Given the description of an element on the screen output the (x, y) to click on. 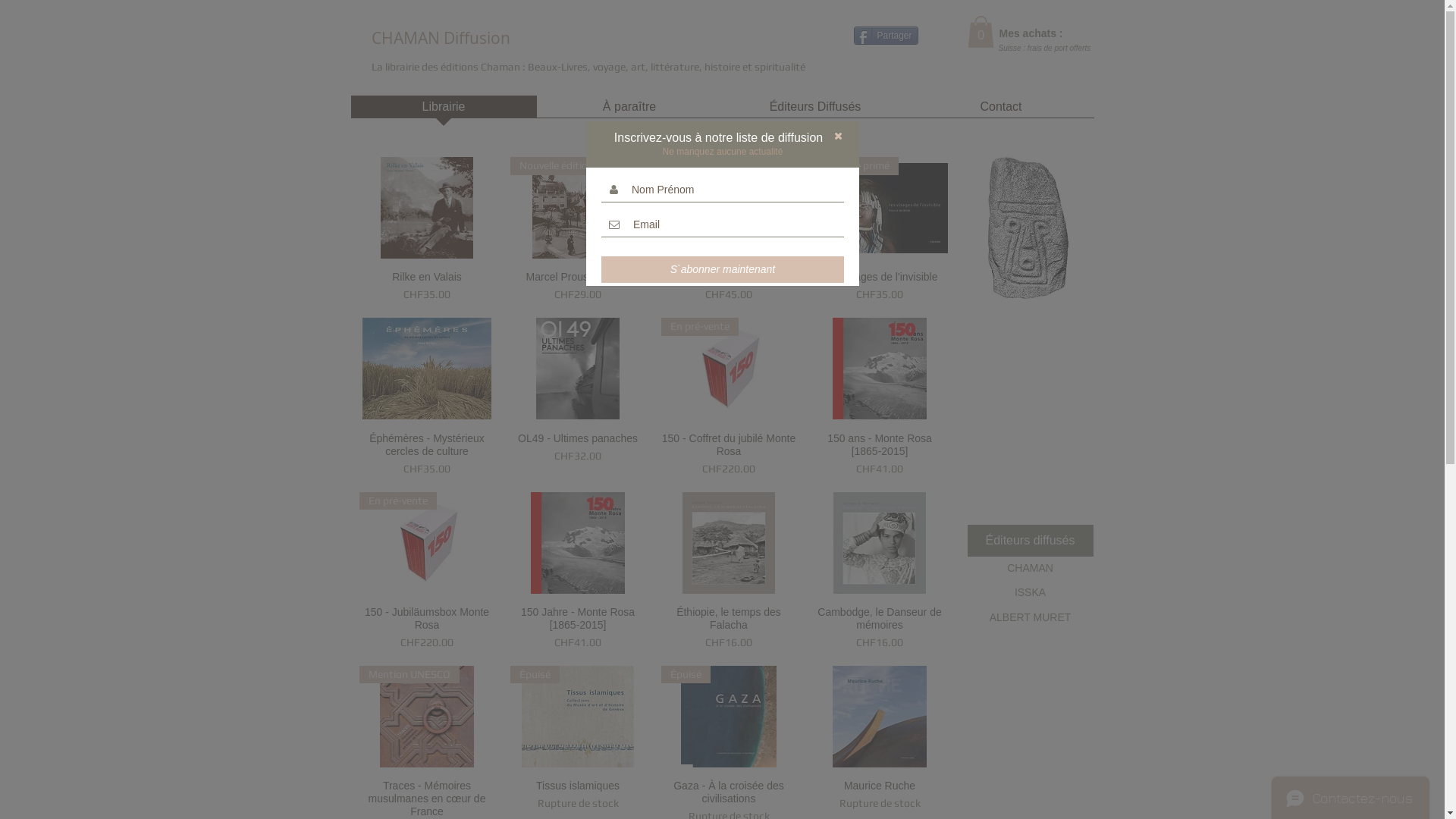
Wix Get Subscribers Element type: hover (1030, 409)
CHAMAN Diffusion Element type: text (440, 38)
Librairie Element type: text (443, 111)
Contact Element type: text (1001, 111)
Les visages de l'invisible
Prix
CHF35.00 Element type: text (879, 286)
ALBERT MURET Element type: text (1030, 617)
frais de port offerts Element type: text (1058, 47)
Six mois dans l'Himalaya
Prix
CHF45.00 Element type: text (729, 286)
Modal Dialog Element type: hover (721, 409)
150 ans - Monte Rosa [1865-2015]
Prix
CHF41.00 Element type: text (879, 454)
150 Jahre - Monte Rosa [1865-2015]
Prix
CHF41.00 Element type: text (577, 627)
CHAMAN Element type: text (1030, 568)
Site Search Element type: hover (704, 38)
Rilke en Valais
Prix
CHF35.00 Element type: text (427, 286)
Partager Element type: text (885, 35)
OL49 - Ultimes panaches
Prix
CHF32.00 Element type: text (577, 454)
0 Element type: text (980, 31)
Suisse Element type: text (1008, 47)
 : Element type: text (1024, 47)
ISSKA Element type: text (1030, 592)
Mention UNESCO Element type: text (427, 716)
